Given the description of an element on the screen output the (x, y) to click on. 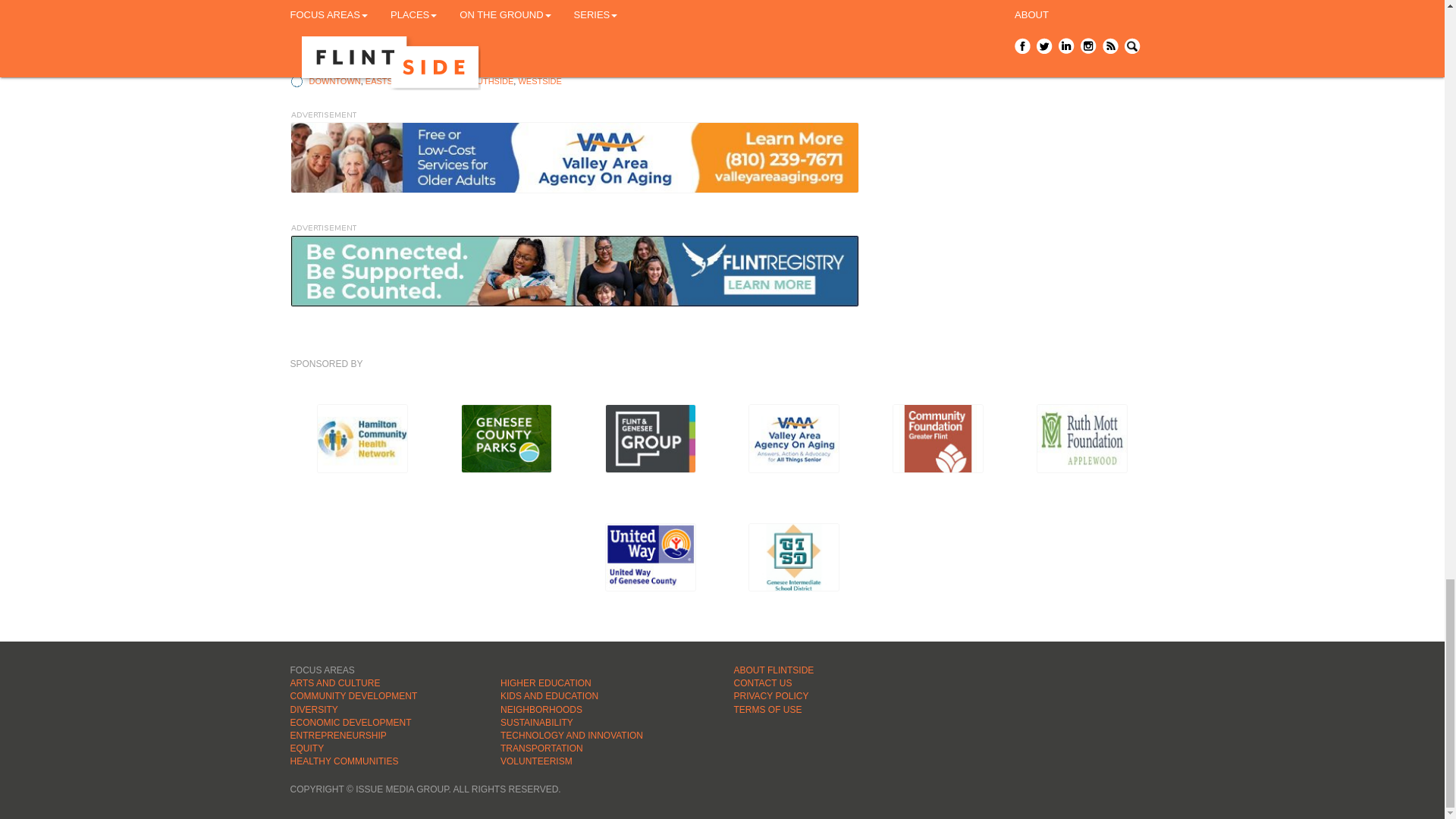
Flint Registry (574, 270)
View more stories related to Diversity (470, 51)
View more stories related to Eastside (385, 80)
View more stories related to Westside (539, 80)
View more stories related to Southside (488, 80)
View more stories related to Downtown (334, 80)
Hamilton Community Health Network  (362, 438)
View more stories related to Northside (435, 80)
